Given the description of an element on the screen output the (x, y) to click on. 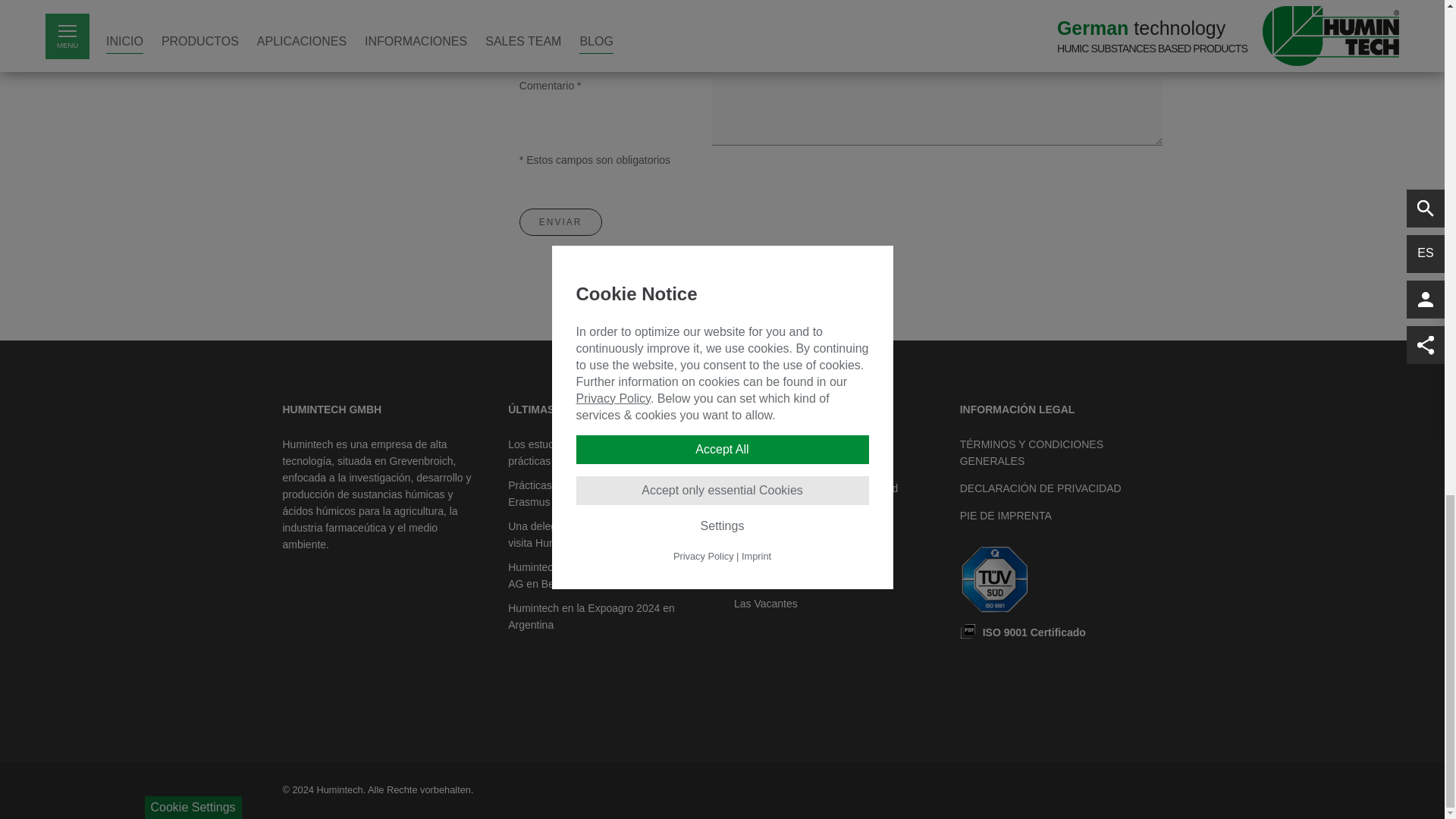
ENVIAR (560, 221)
